Given the description of an element on the screen output the (x, y) to click on. 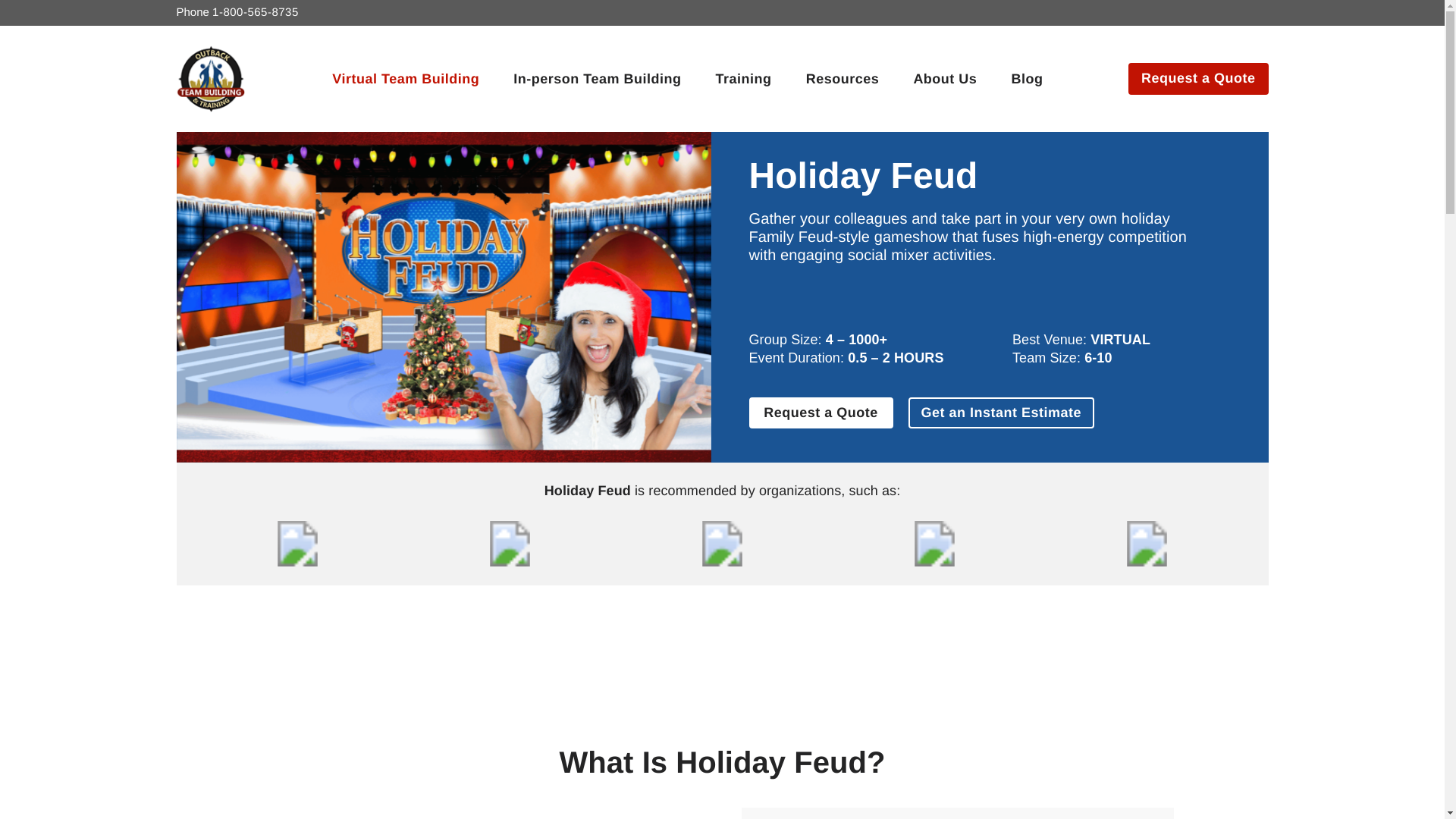
In-person Team Building (596, 78)
1-800-565-8735 (255, 11)
Virtual Team Building (406, 78)
